Given the description of an element on the screen output the (x, y) to click on. 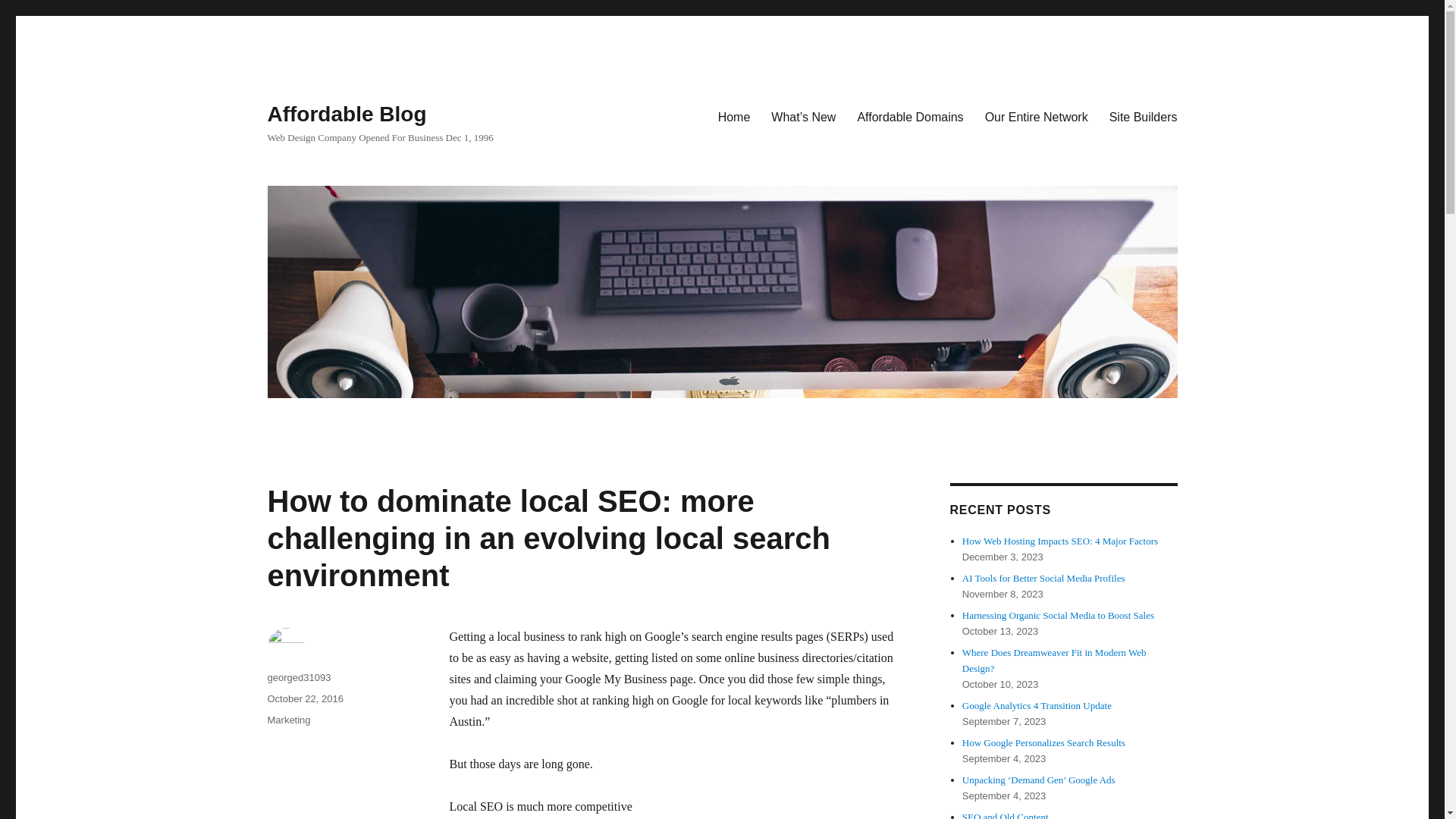
Harnessing Organic Social Media to Boost Sales (1058, 614)
Google Analytics 4 Transition Update (1037, 705)
Affordable Domains (909, 116)
Where Does Dreamweaver Fit in Modern Web Design? (1054, 660)
AI Tools for Better Social Media Profiles (1043, 577)
Home (734, 116)
Our Entire Network (1036, 116)
How Google Personalizes Search Results (1043, 742)
SEO and Old Content (1005, 815)
georged31093 (298, 677)
